Given the description of an element on the screen output the (x, y) to click on. 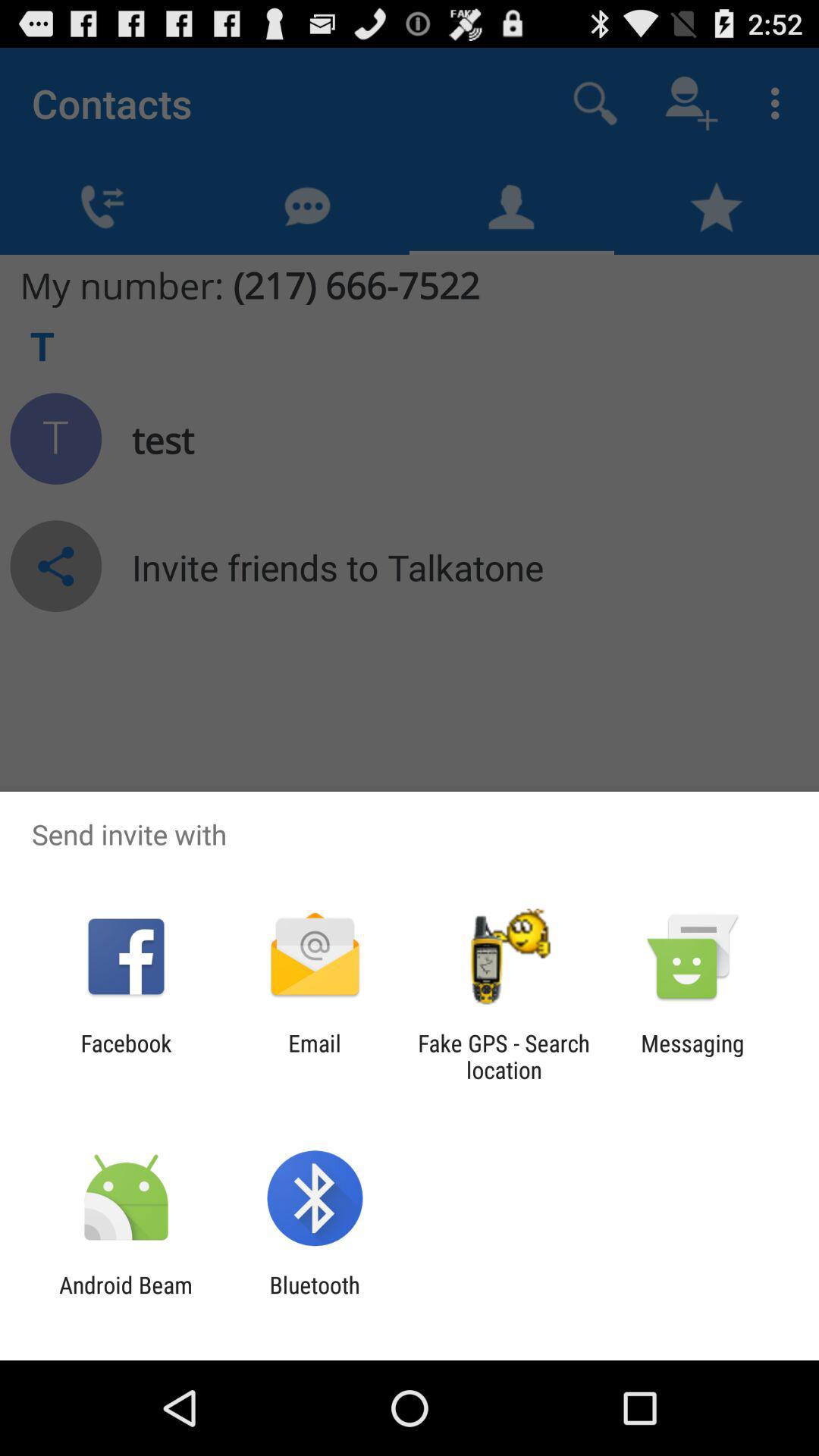
scroll to the email item (314, 1056)
